Given the description of an element on the screen output the (x, y) to click on. 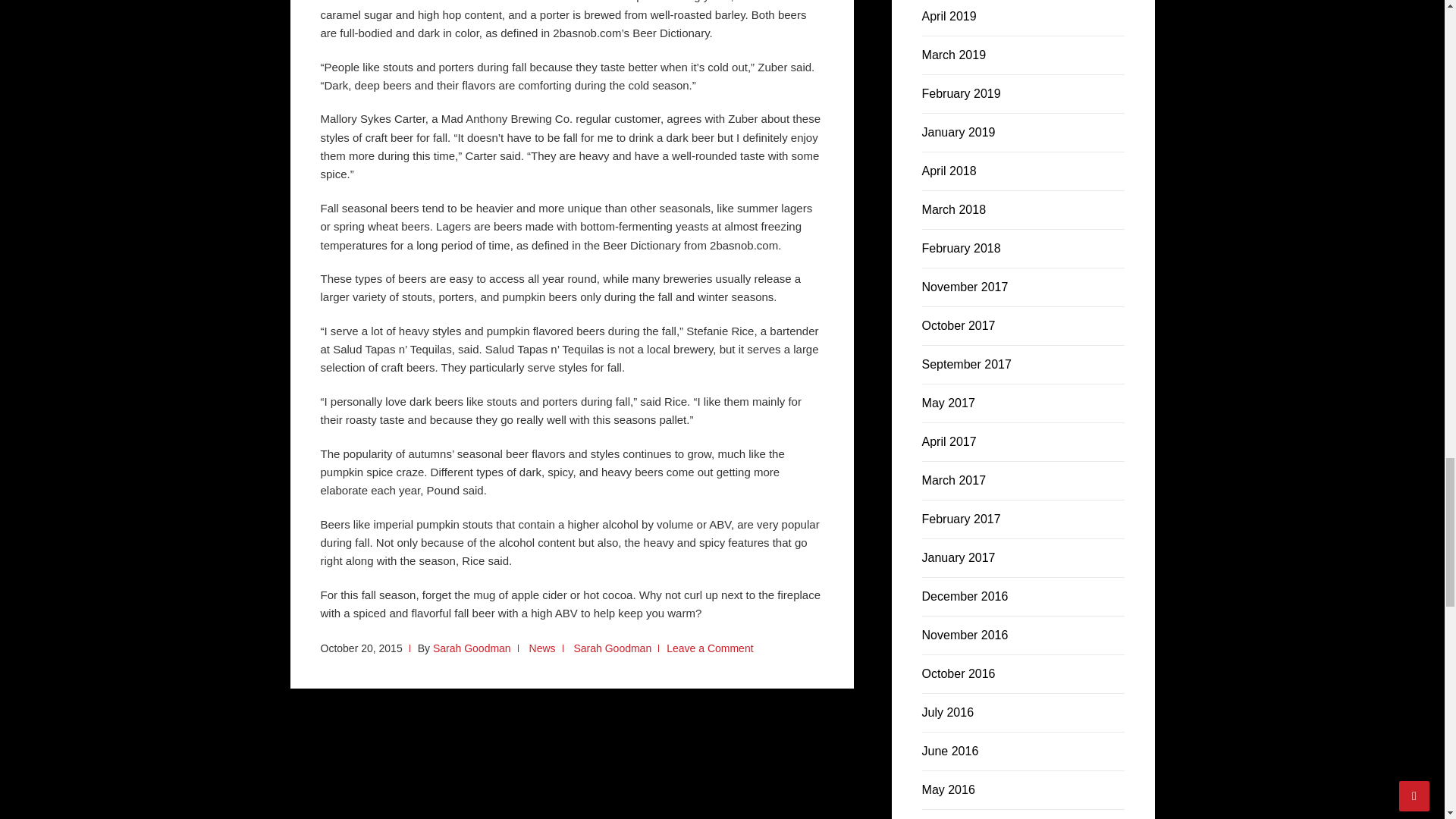
Sarah Goodman (471, 648)
View all posts by Sarah Goodman (471, 648)
Leave a Comment (709, 648)
Sarah Goodman (611, 648)
News (542, 648)
